Given the description of an element on the screen output the (x, y) to click on. 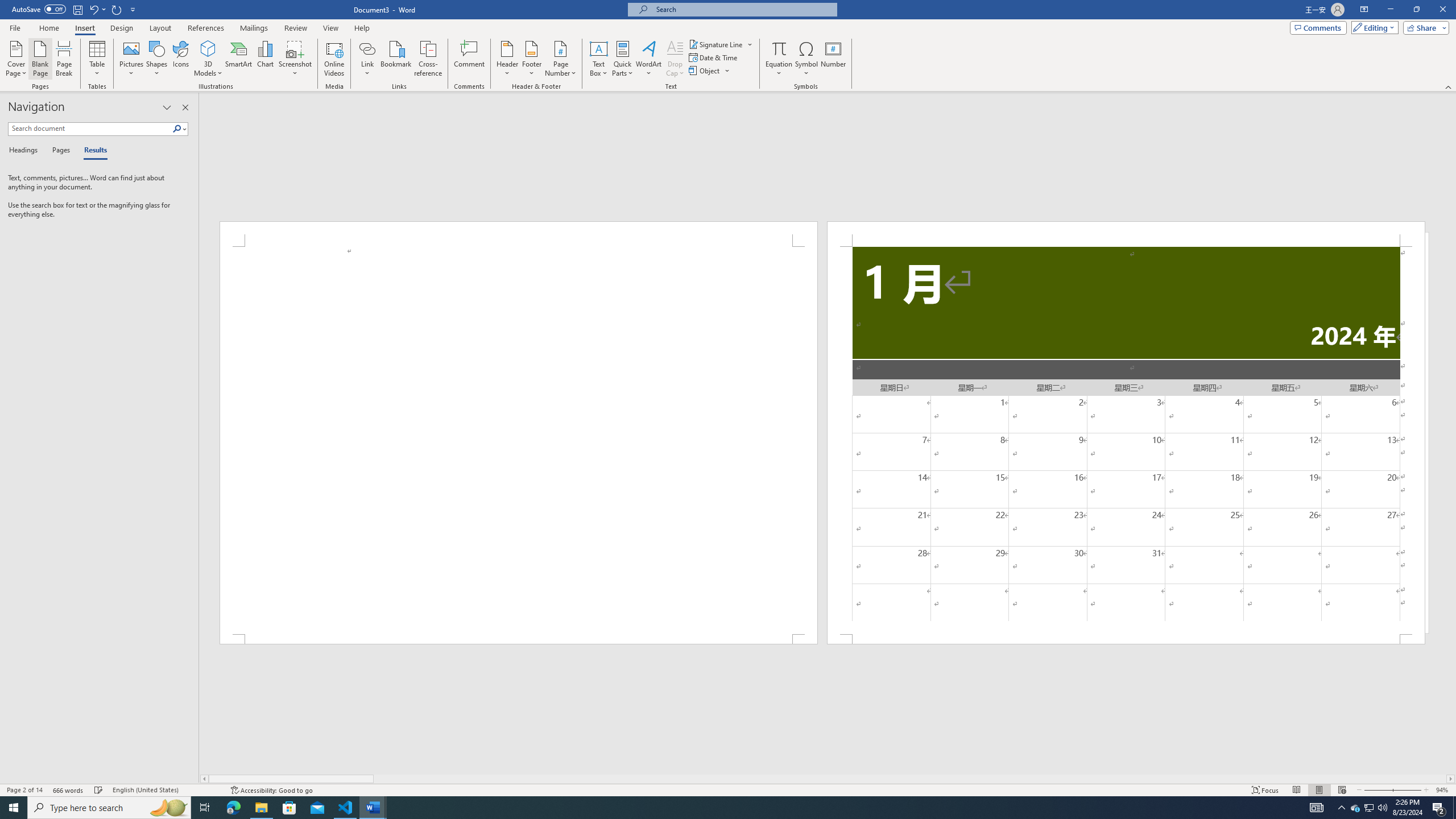
Signature Line (721, 44)
Page 1 content (518, 439)
Undo New Page (96, 9)
